Given the description of an element on the screen output the (x, y) to click on. 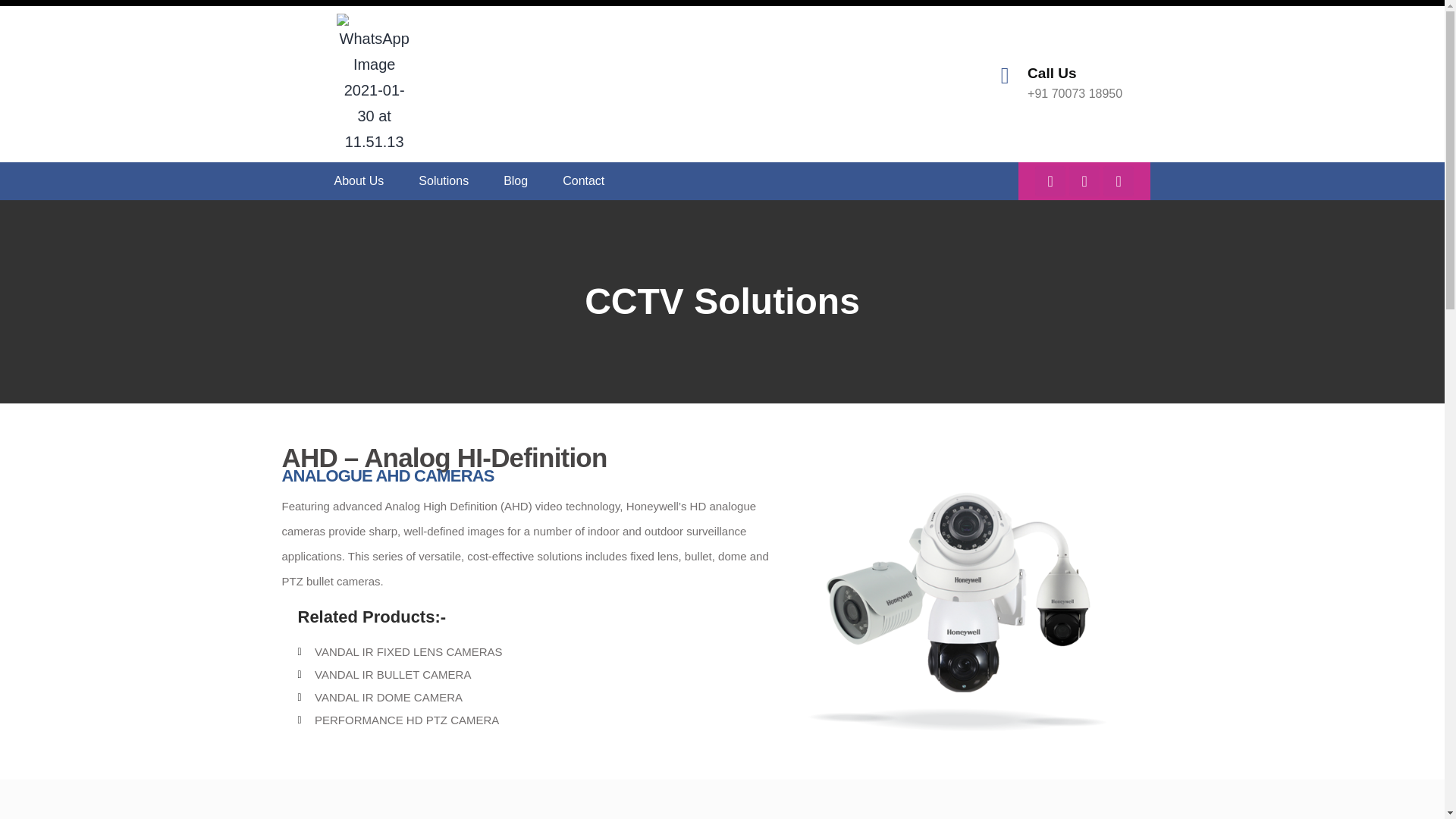
About Us (359, 181)
Solutions (443, 181)
Blog (515, 181)
Contact (582, 181)
